Given the description of an element on the screen output the (x, y) to click on. 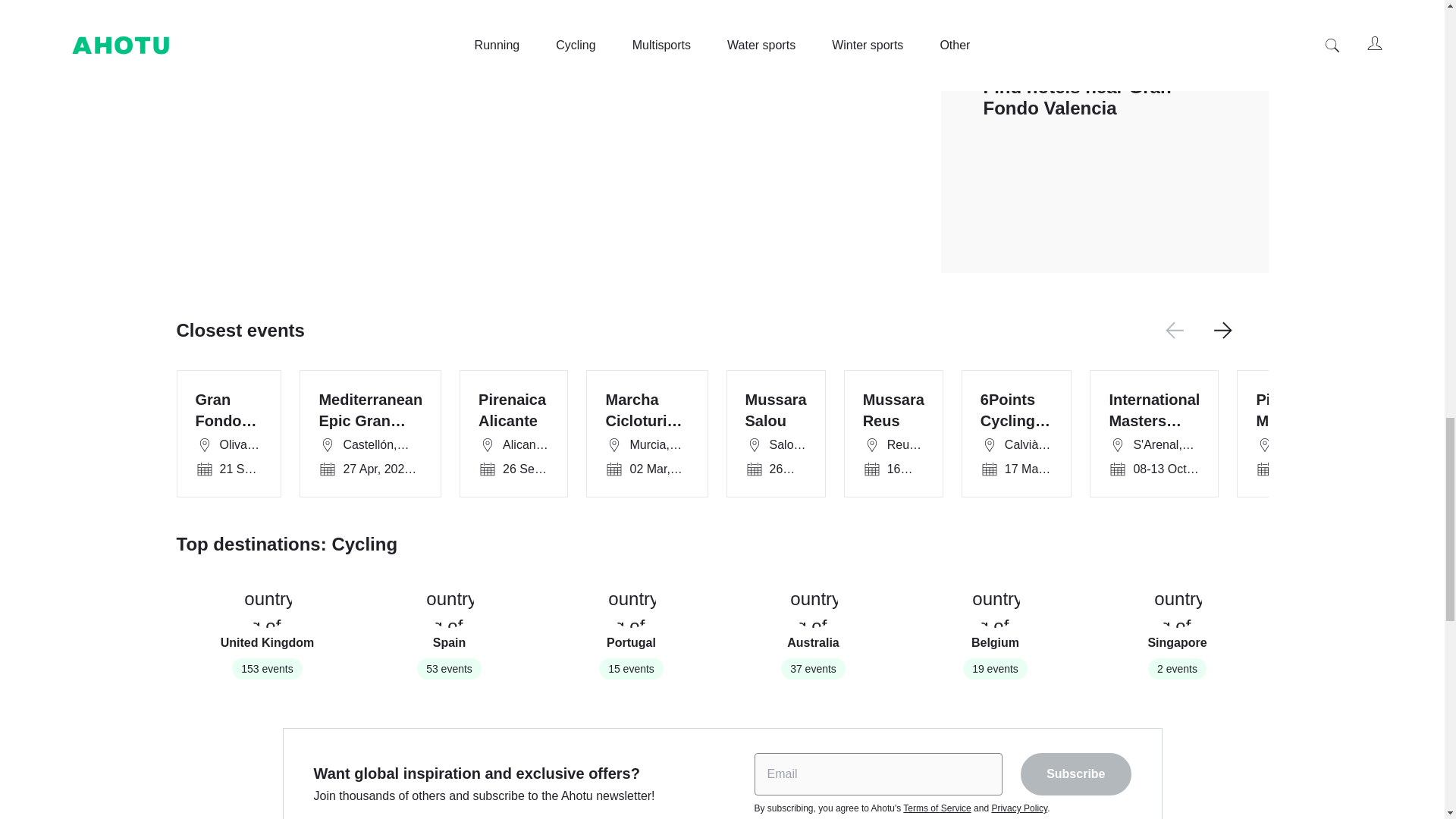
Privacy Policy (631, 629)
map-frame (1018, 808)
Terms of Service (995, 629)
Subscribe (813, 629)
